Given the description of an element on the screen output the (x, y) to click on. 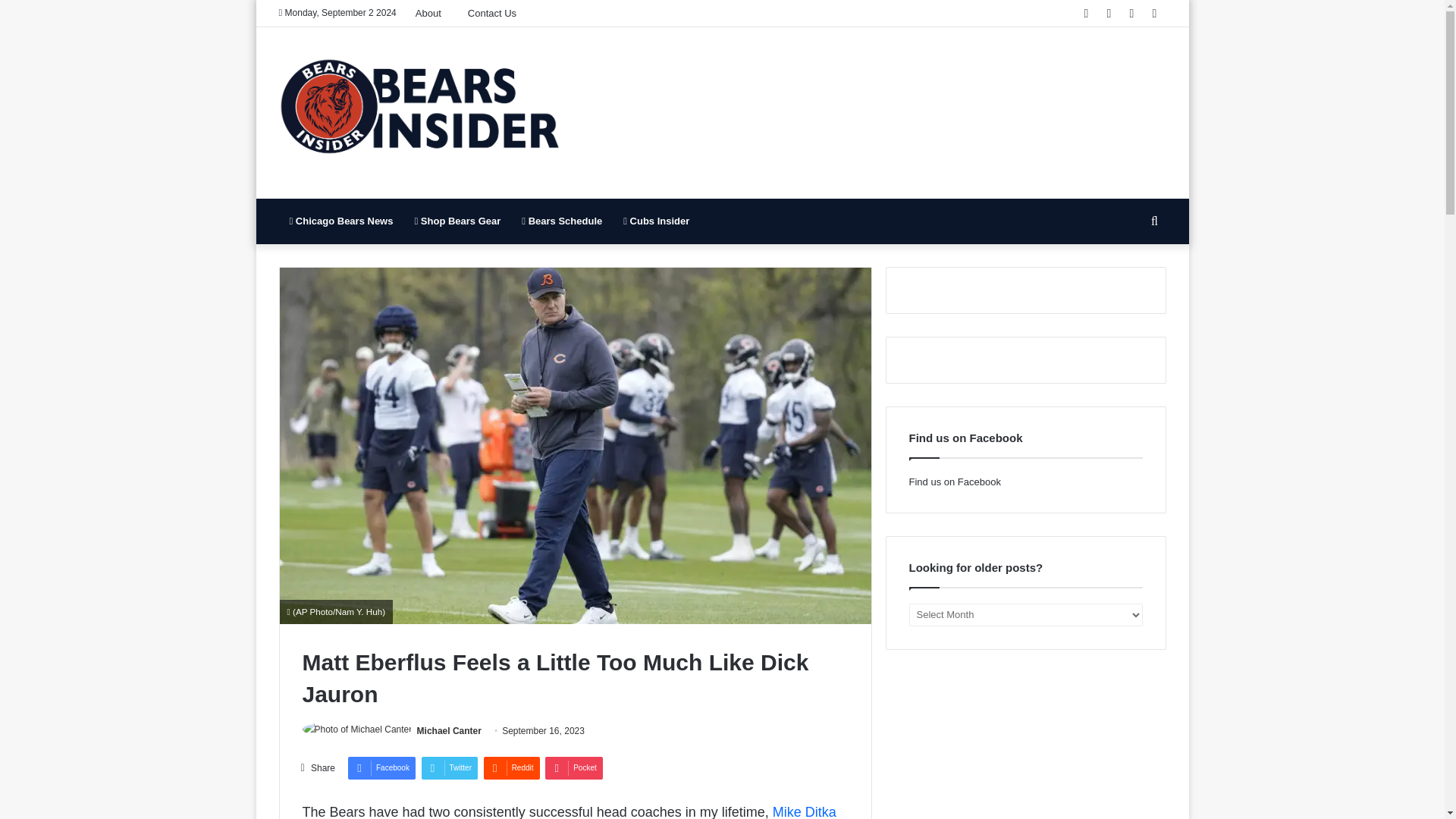
Facebook (380, 767)
Pocket (573, 767)
Facebook (380, 767)
Twitter (449, 767)
Cubs Insider (656, 221)
Michael Canter (448, 730)
Reddit (511, 767)
About (433, 13)
Twitter (449, 767)
Pocket (573, 767)
